Given the description of an element on the screen output the (x, y) to click on. 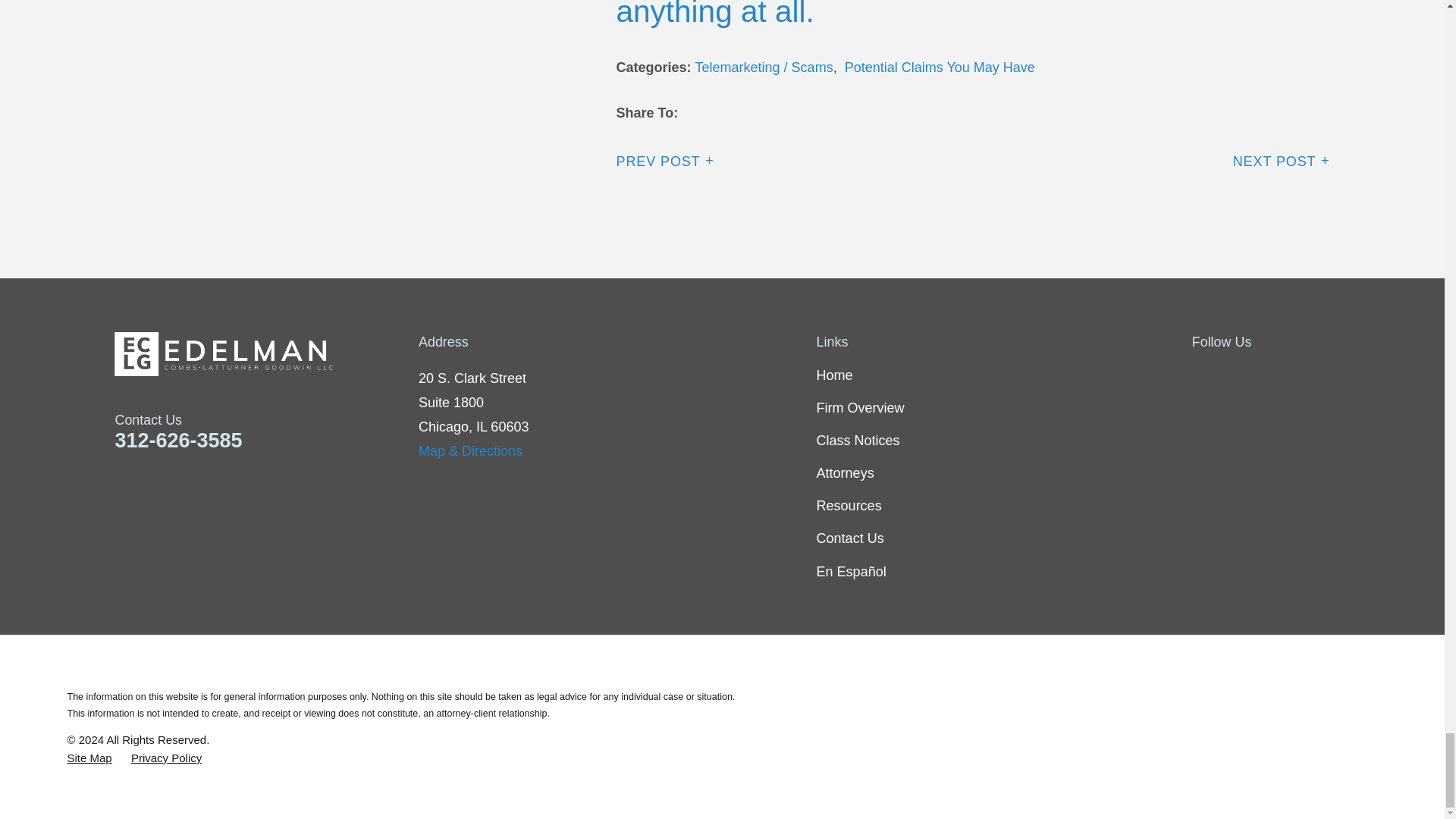
Google Business Profile (1319, 375)
Yelp (1280, 375)
Home (267, 353)
Twitter (1240, 375)
Facebook (1201, 375)
